Given the description of an element on the screen output the (x, y) to click on. 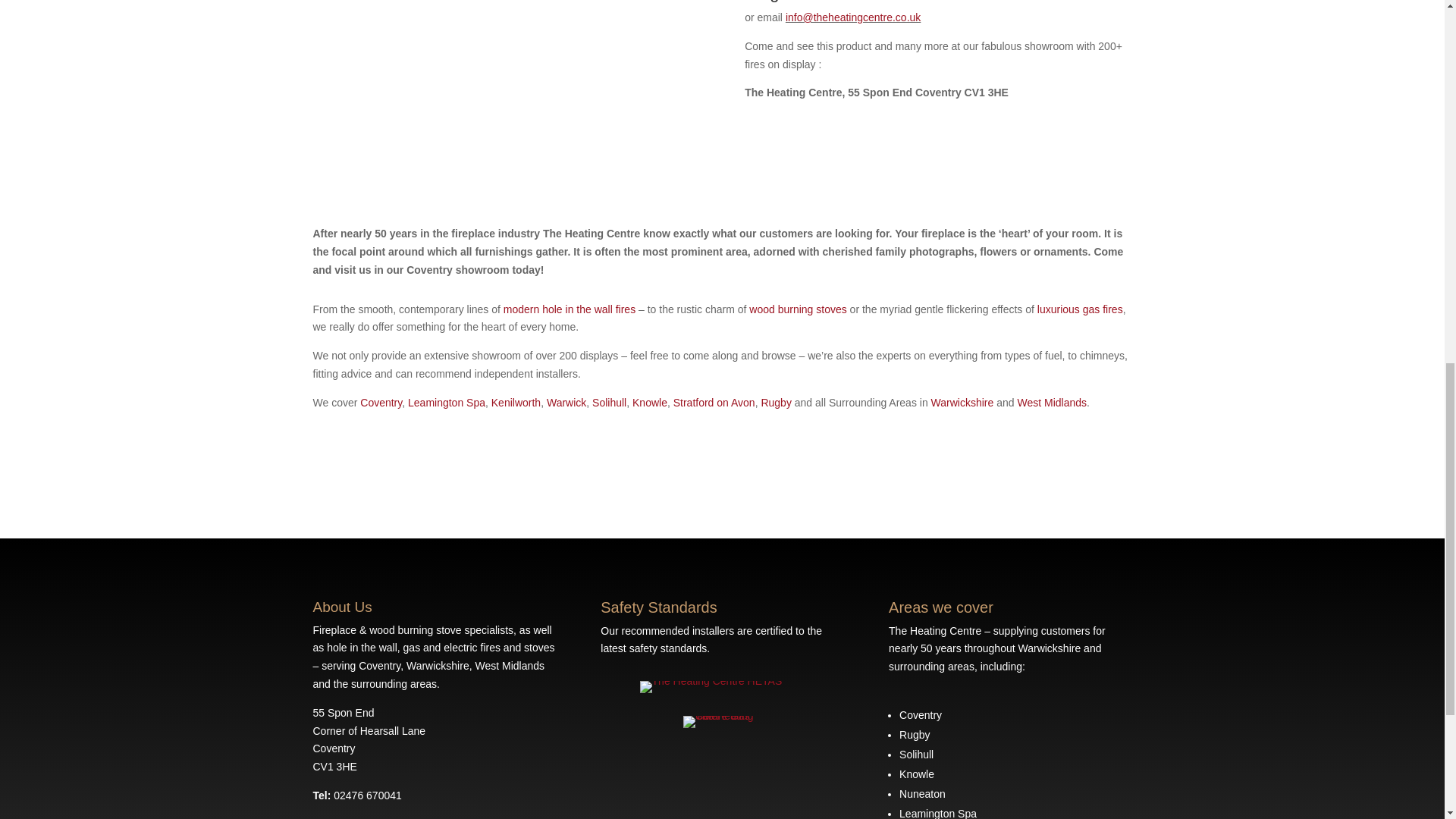
Choosing Us (962, 402)
Choosing Us (380, 402)
Choosing Us (566, 402)
Choosing Us (713, 402)
Choosing Us (609, 402)
Choosing Us (445, 402)
Choosing Us (648, 402)
The Heating Centre HETAS (711, 686)
Choosing Us (516, 402)
Choosing Us (1051, 402)
Choosing Us (775, 402)
